Given the description of an element on the screen output the (x, y) to click on. 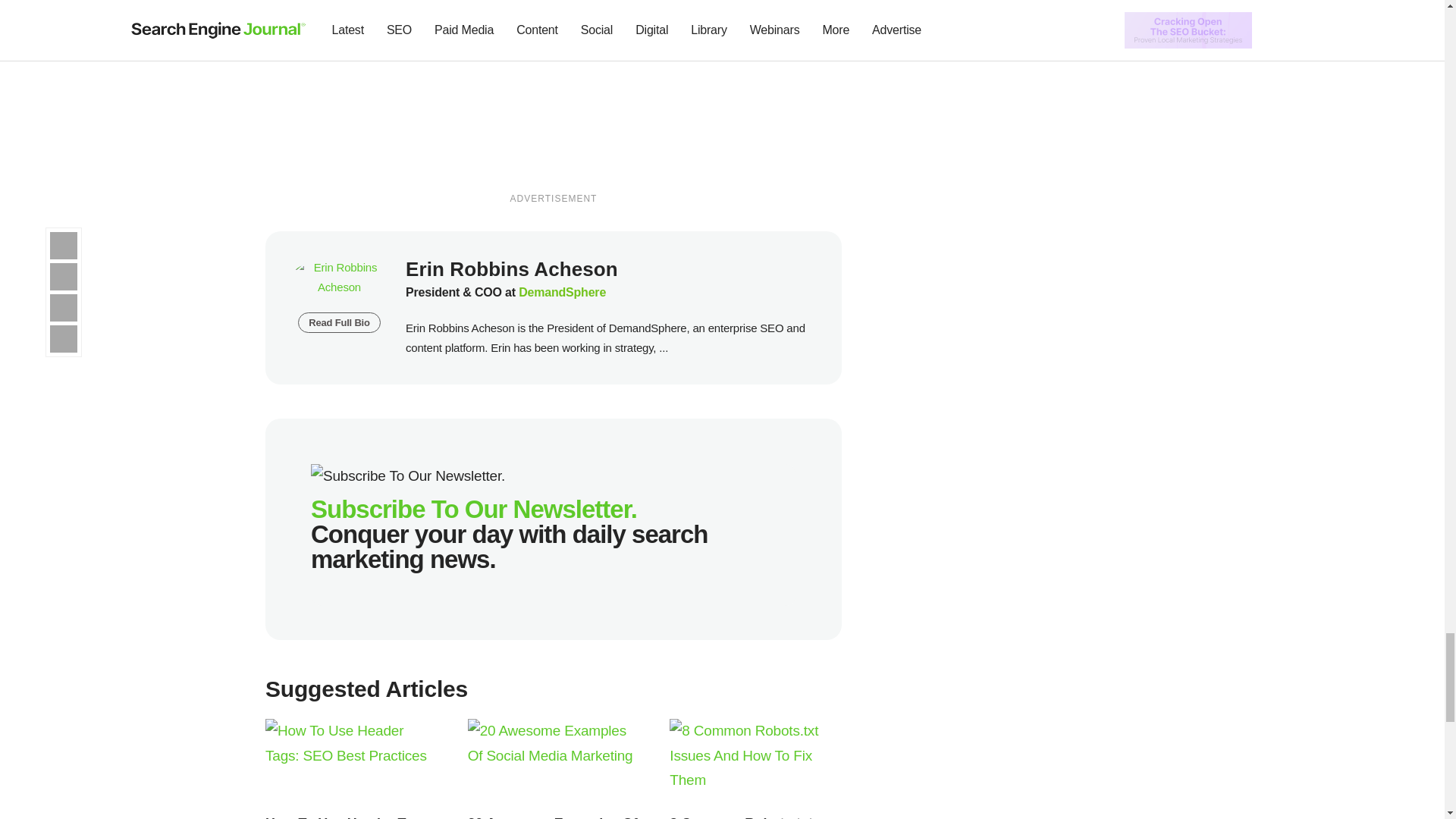
Read the Article (348, 817)
Read the Article (755, 763)
Read the Article (553, 763)
Read the Article (552, 817)
Read the Article (351, 763)
